Given the description of an element on the screen output the (x, y) to click on. 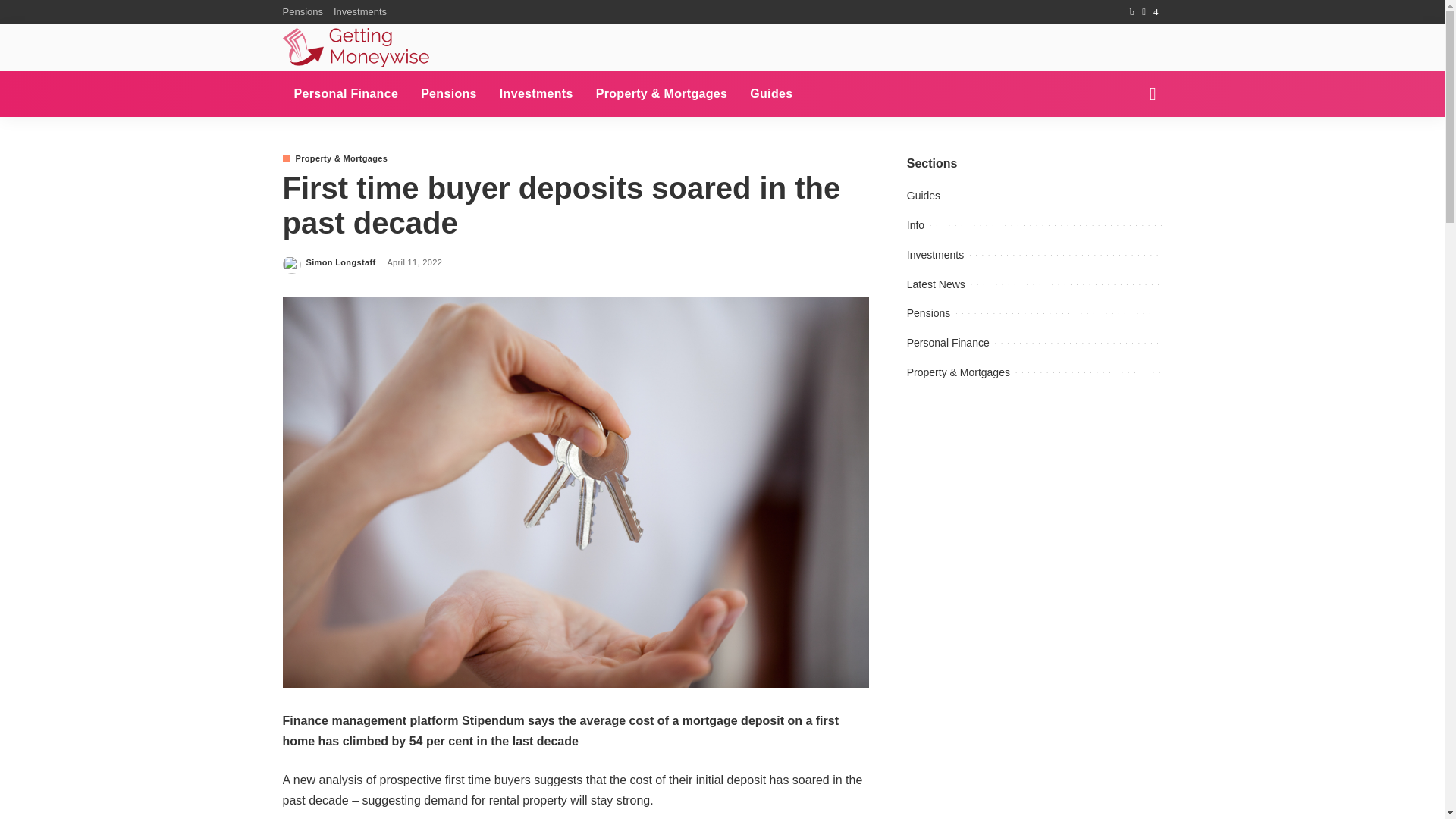
Investments (536, 94)
Search (1140, 147)
Simon Longstaff (340, 262)
Personal Finance (345, 94)
Pensions (448, 94)
Pensions (304, 11)
Search (1140, 11)
Investments (360, 11)
Guides (770, 94)
